Given the description of an element on the screen output the (x, y) to click on. 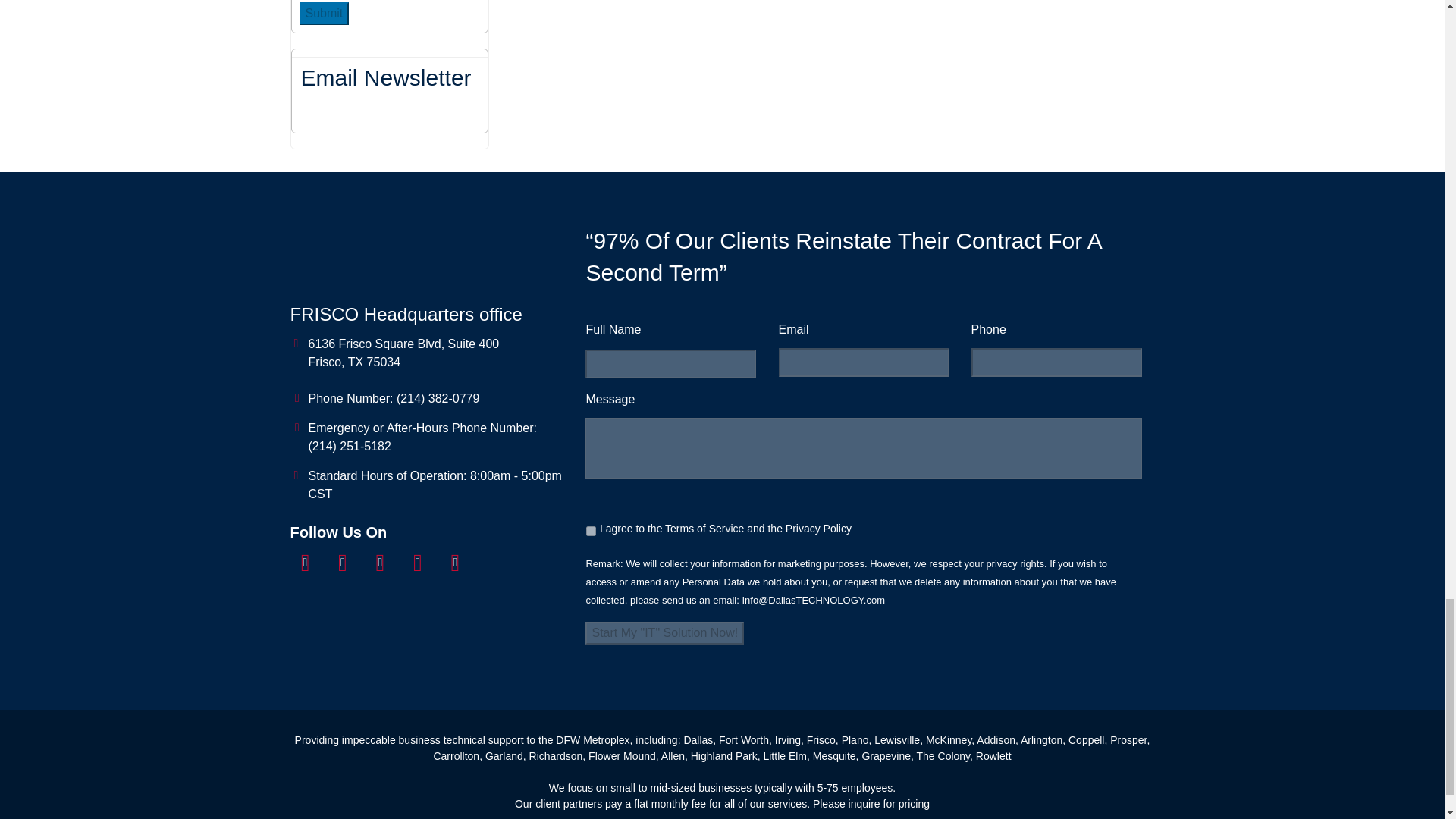
Start My "IT" Solution Now! (664, 632)
Submit (323, 13)
